Given the description of an element on the screen output the (x, y) to click on. 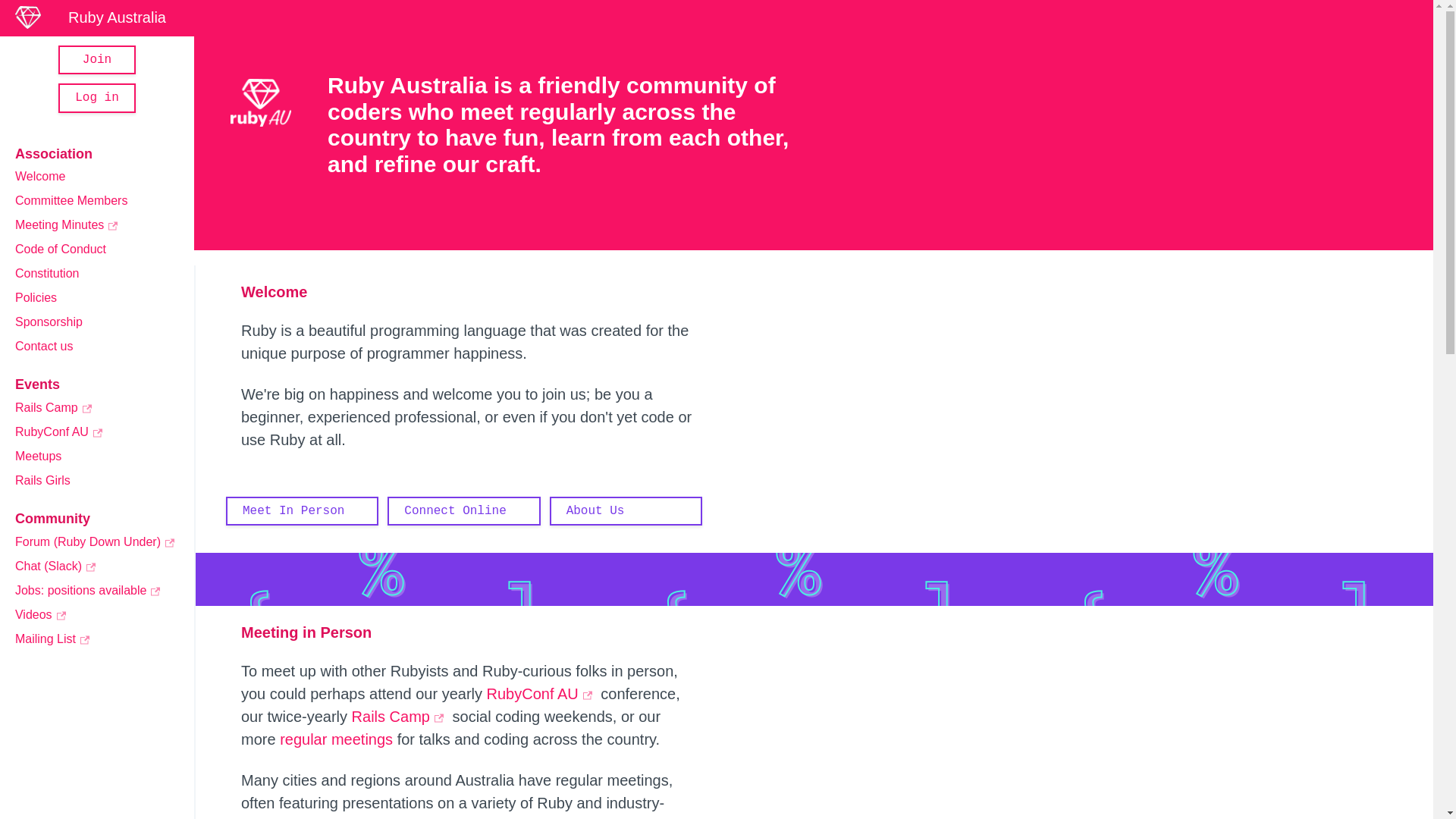
Rails Camp Element type: text (401, 716)
Videos Element type: text (42, 614)
Log in Element type: text (96, 97)
Constitution Element type: text (47, 272)
About Us Element type: text (625, 510)
Welcome Element type: text (40, 175)
Meet In Person Element type: text (301, 510)
Meetups Element type: text (38, 455)
RubyConf AU Element type: text (543, 693)
Jobs: positions available Element type: text (89, 589)
Mailing List Element type: text (54, 638)
Join Element type: text (96, 59)
Meeting Minutes Element type: text (68, 224)
Policies Element type: text (35, 297)
Contact us Element type: text (43, 345)
Sponsorship Element type: text (48, 321)
Committee Members Element type: text (71, 200)
regular meetings Element type: text (335, 739)
RubyConf AU Element type: text (60, 431)
Code of Conduct Element type: text (60, 248)
Connect Online Element type: text (463, 510)
Rails Girls Element type: text (42, 479)
Chat (Slack) Element type: text (57, 565)
Forum (Ruby Down Under) Element type: text (96, 541)
Ruby Australia Element type: text (98, 17)
Rails Camp Element type: text (55, 407)
